Given the description of an element on the screen output the (x, y) to click on. 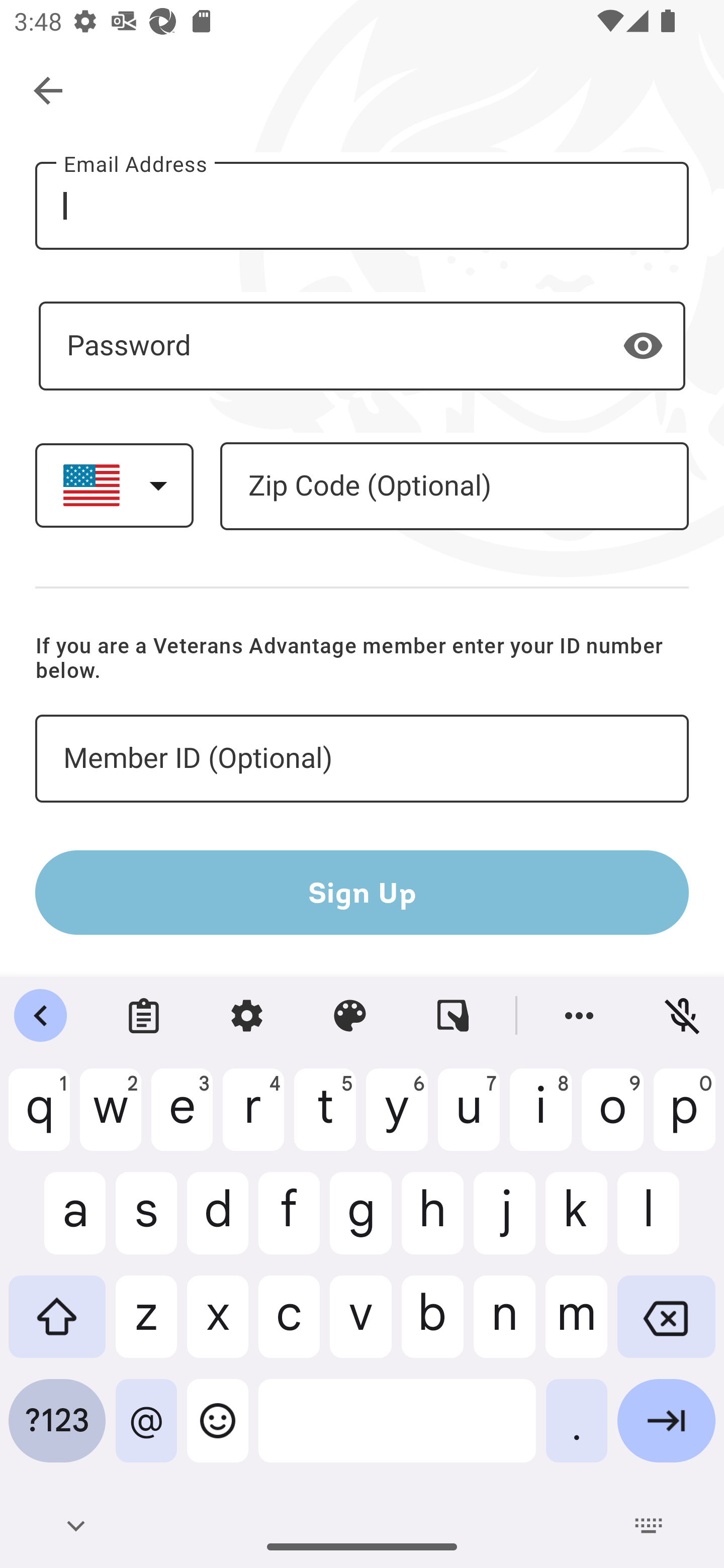
Navigate up (49, 91)
Email Address - Required (361, 205)
- Required (361, 345)
Show password (642, 345)
Zip Code – Optional (454, 485)
Select a country. United States selected. (114, 485)
Veterans Advantage ID – Optional (361, 758)
Sign Up (361, 891)
